Given the description of an element on the screen output the (x, y) to click on. 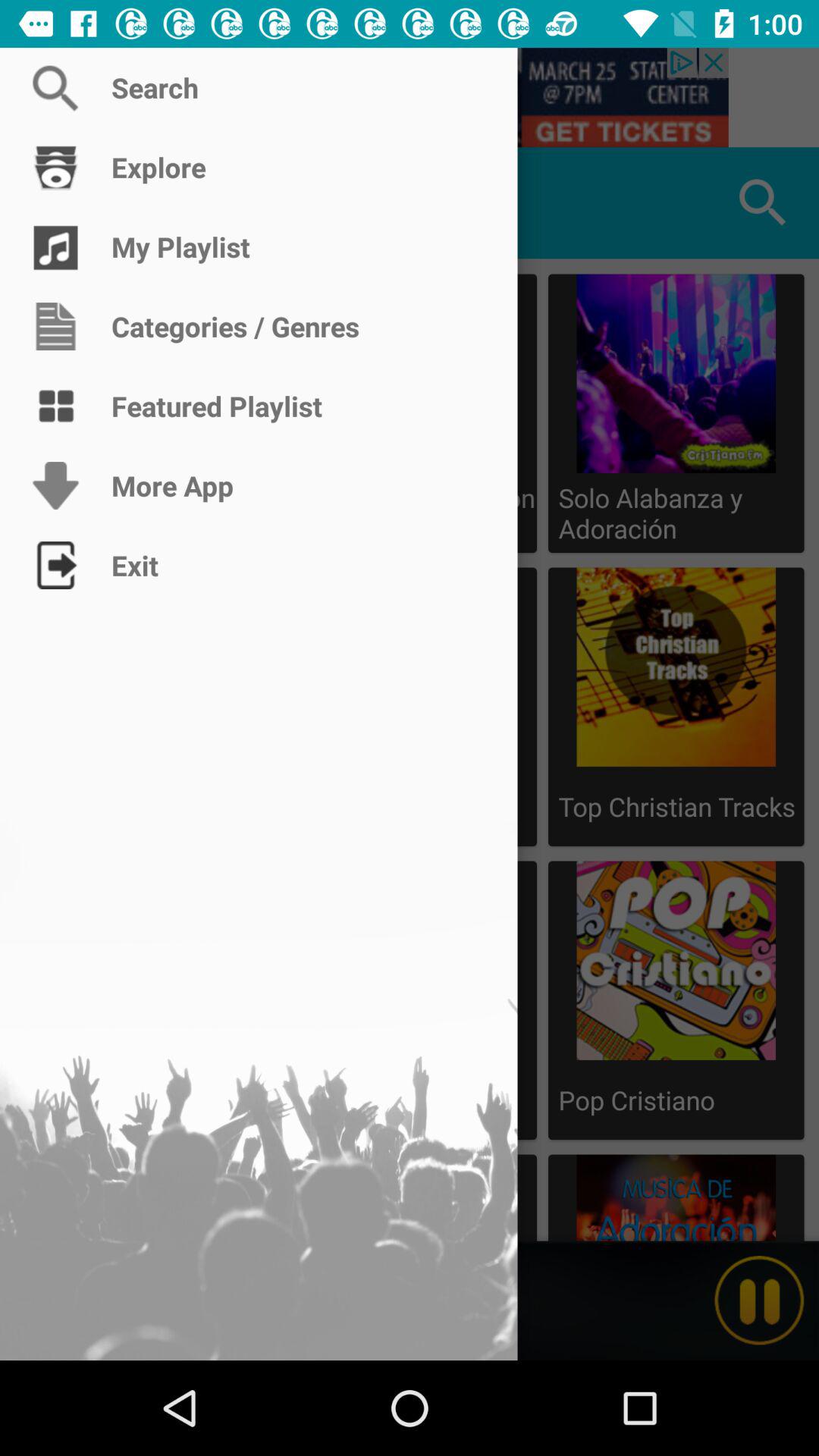
search (409, 97)
